Given the description of an element on the screen output the (x, y) to click on. 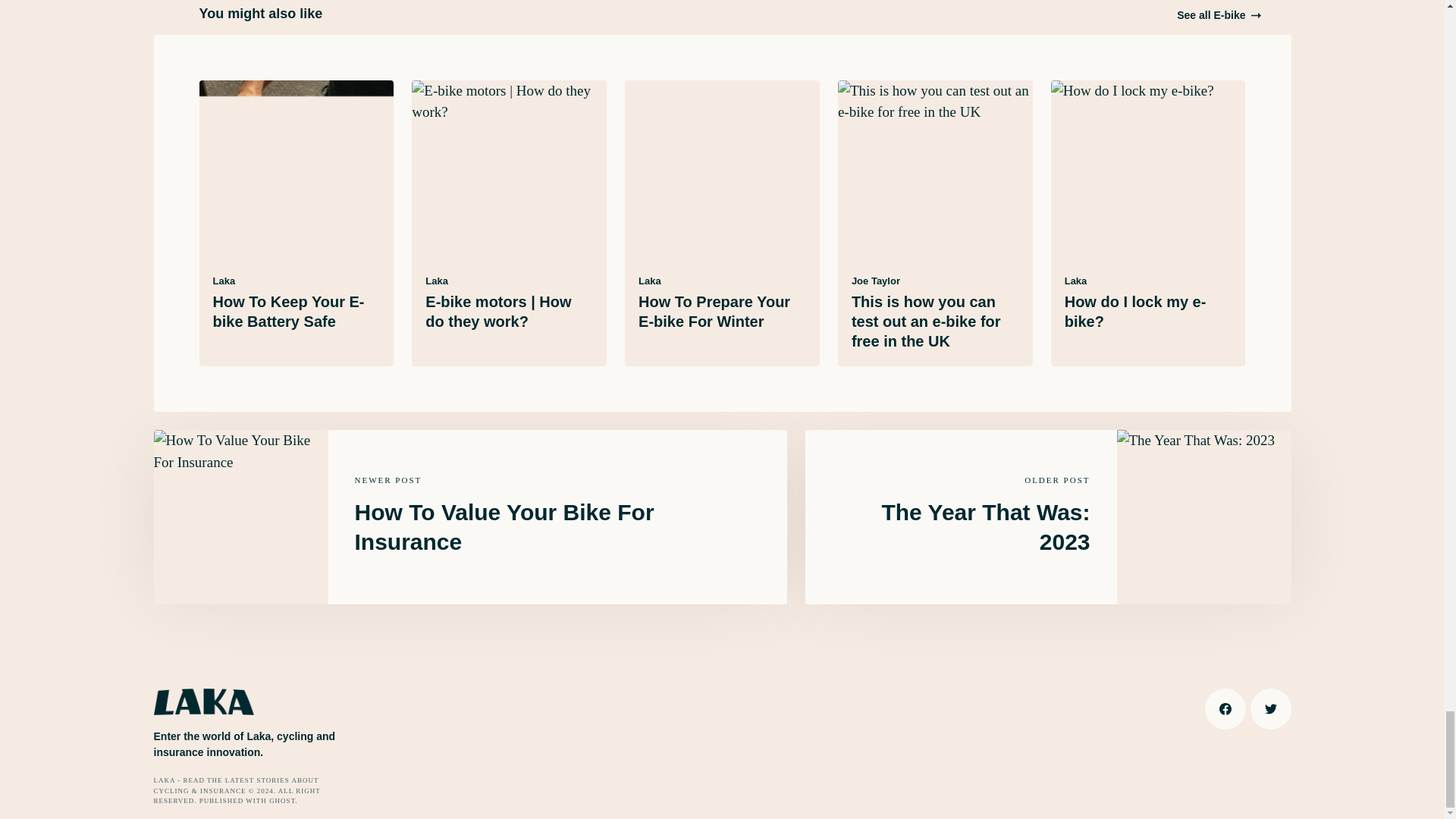
This is how you can test out an e-bike for free in the UK (926, 321)
Laka (650, 280)
How do I lock my e-bike? (1135, 311)
Laka (436, 280)
Laka (223, 280)
Laka (1075, 280)
Joe Taylor (875, 280)
How To Prepare Your E-bike For Winter (714, 311)
How To Keep Your E-bike Battery Safe (288, 311)
See all E-bike (1218, 15)
How To Value Your Bike For Insurance (504, 526)
The Year That Was: 2023 (984, 526)
